Given the description of an element on the screen output the (x, y) to click on. 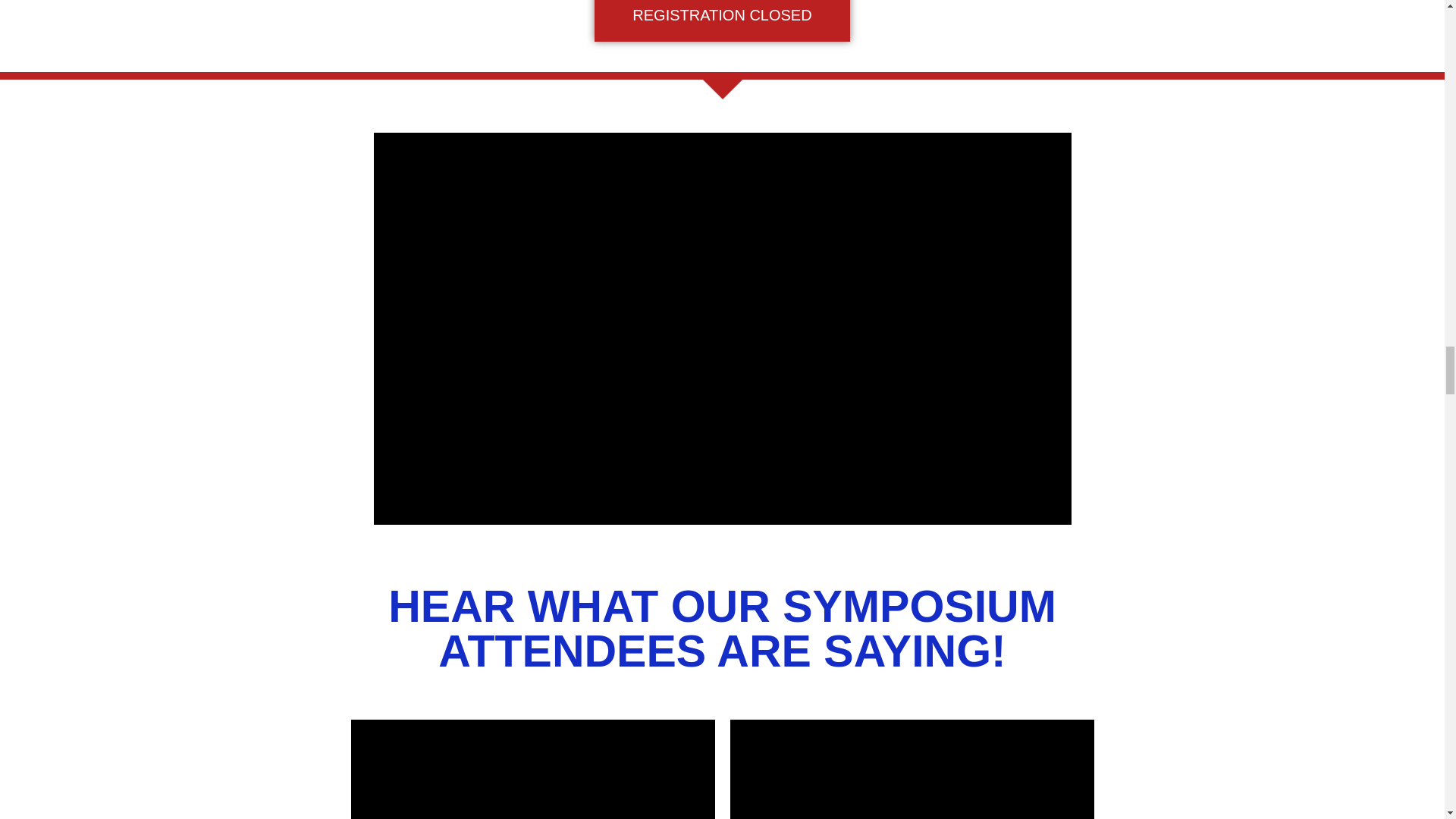
vimeo Video Player (911, 769)
REGISTRATION CLOSED (721, 20)
vimeo Video Player (532, 769)
